Given the description of an element on the screen output the (x, y) to click on. 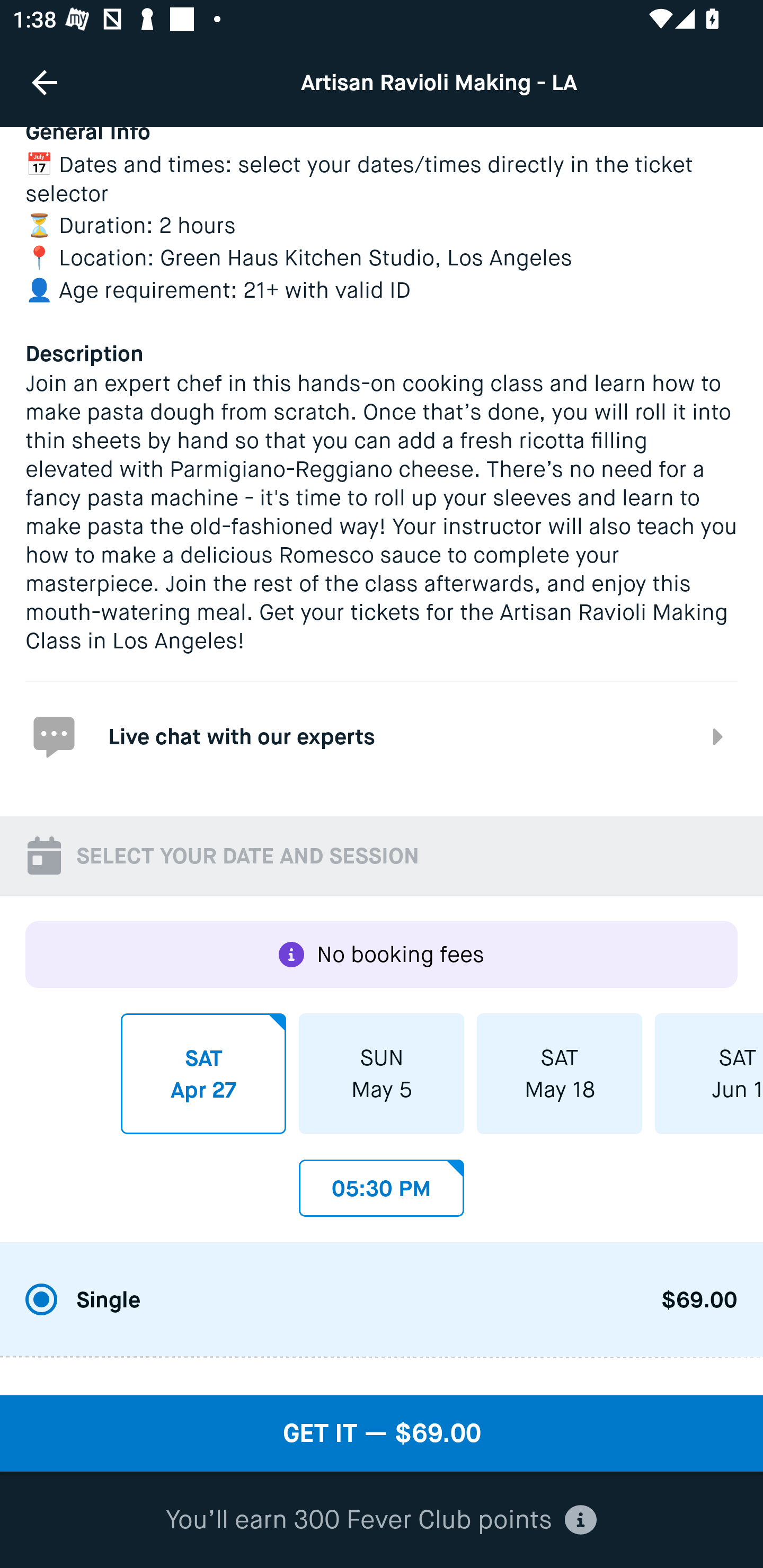
Navigate up (44, 82)
Live chat with our experts (381, 735)
SAT
Apr 27 (203, 1072)
SUN
May 5 (381, 1072)
SAT
May 18 (559, 1072)
SAT
Jun 1 (708, 1072)
05:30 PM (381, 1182)
Single $69.00 (381, 1299)
GET IT — $69.00 (381, 1433)
You’ll earn 300 Fever Club points (380, 1519)
